Given the description of an element on the screen output the (x, y) to click on. 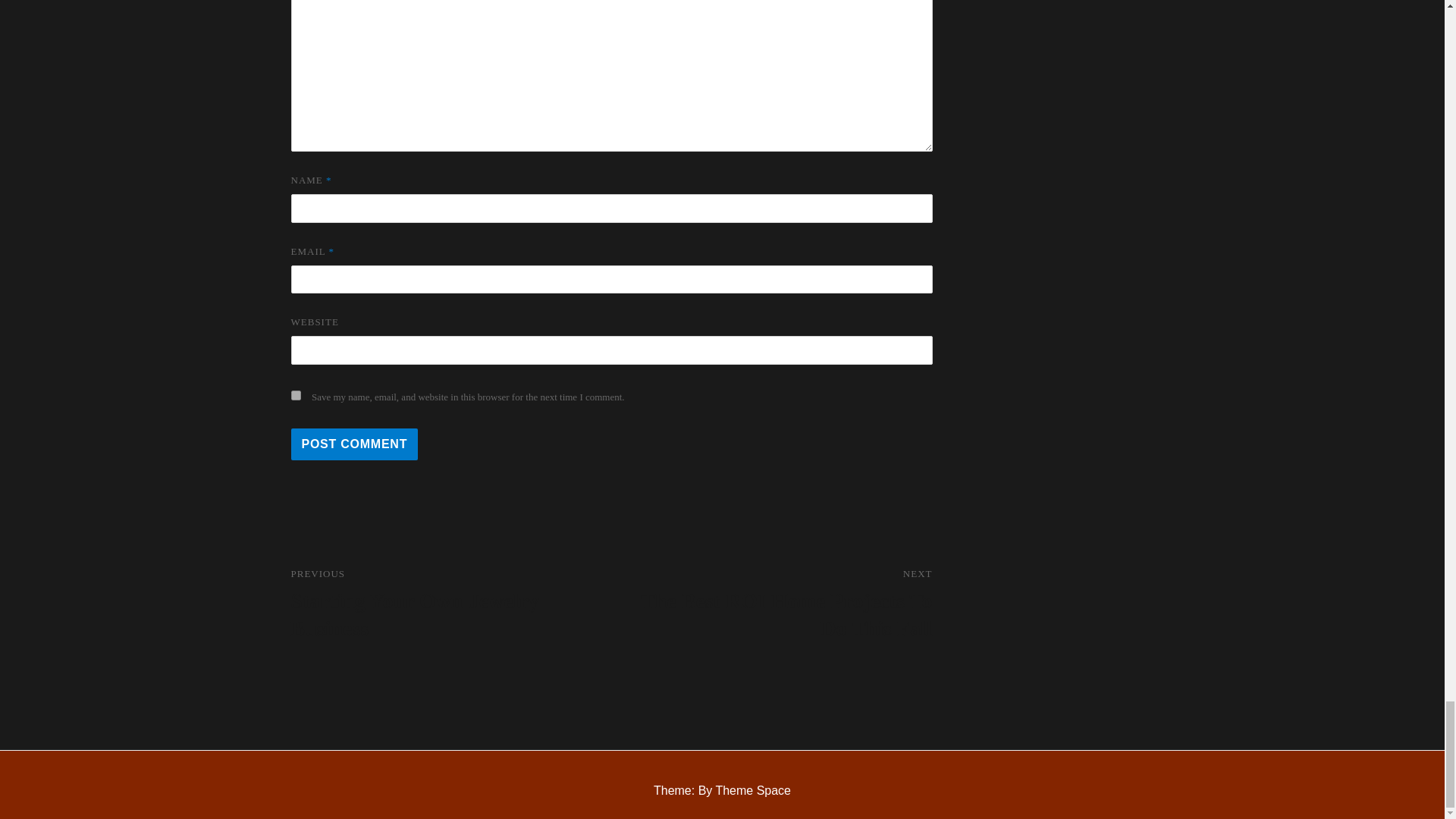
Post Comment (771, 604)
Post Comment (451, 604)
yes (355, 444)
